Given the description of an element on the screen output the (x, y) to click on. 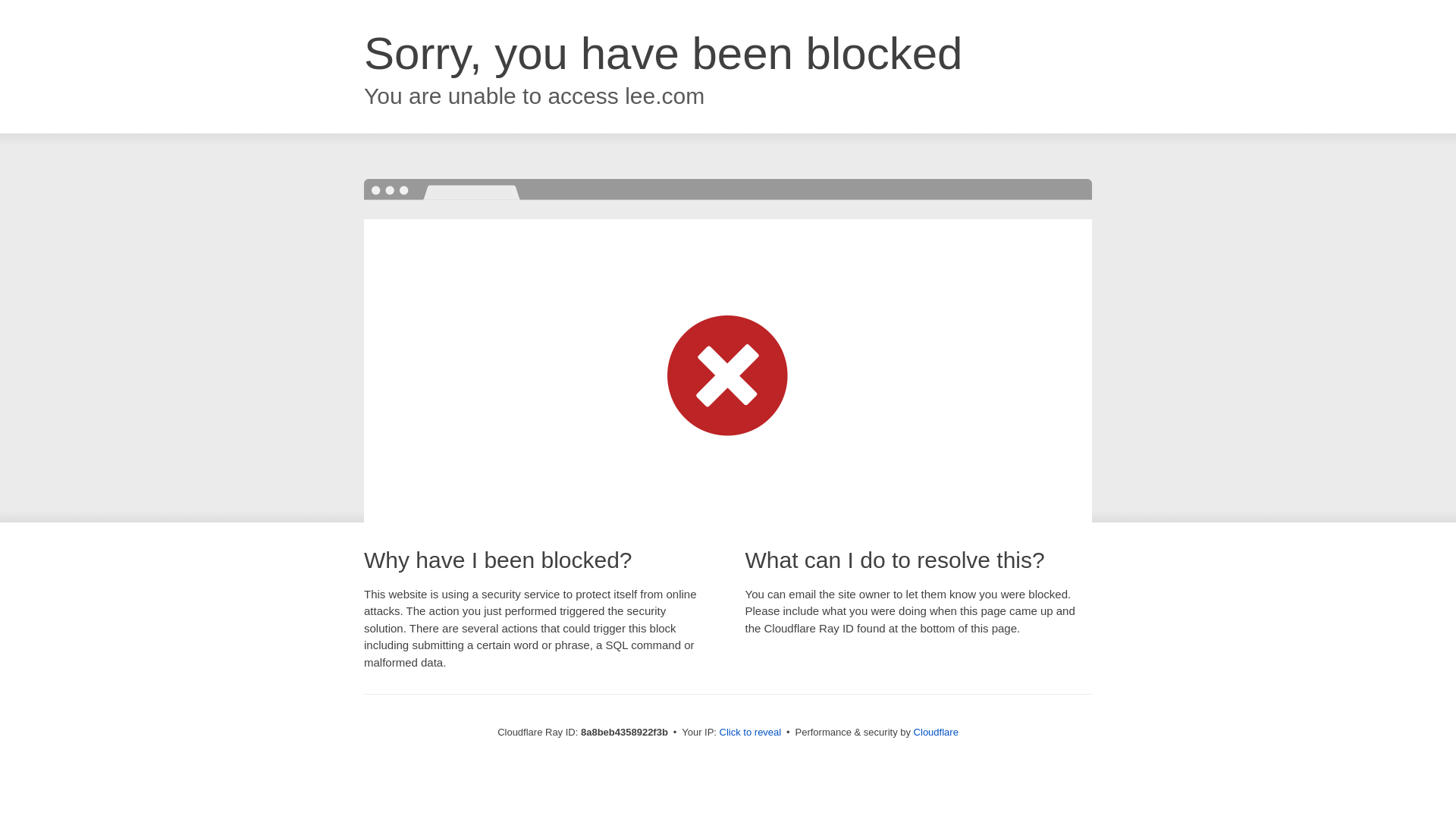
Click to reveal (750, 732)
Cloudflare (936, 731)
